Given the description of an element on the screen output the (x, y) to click on. 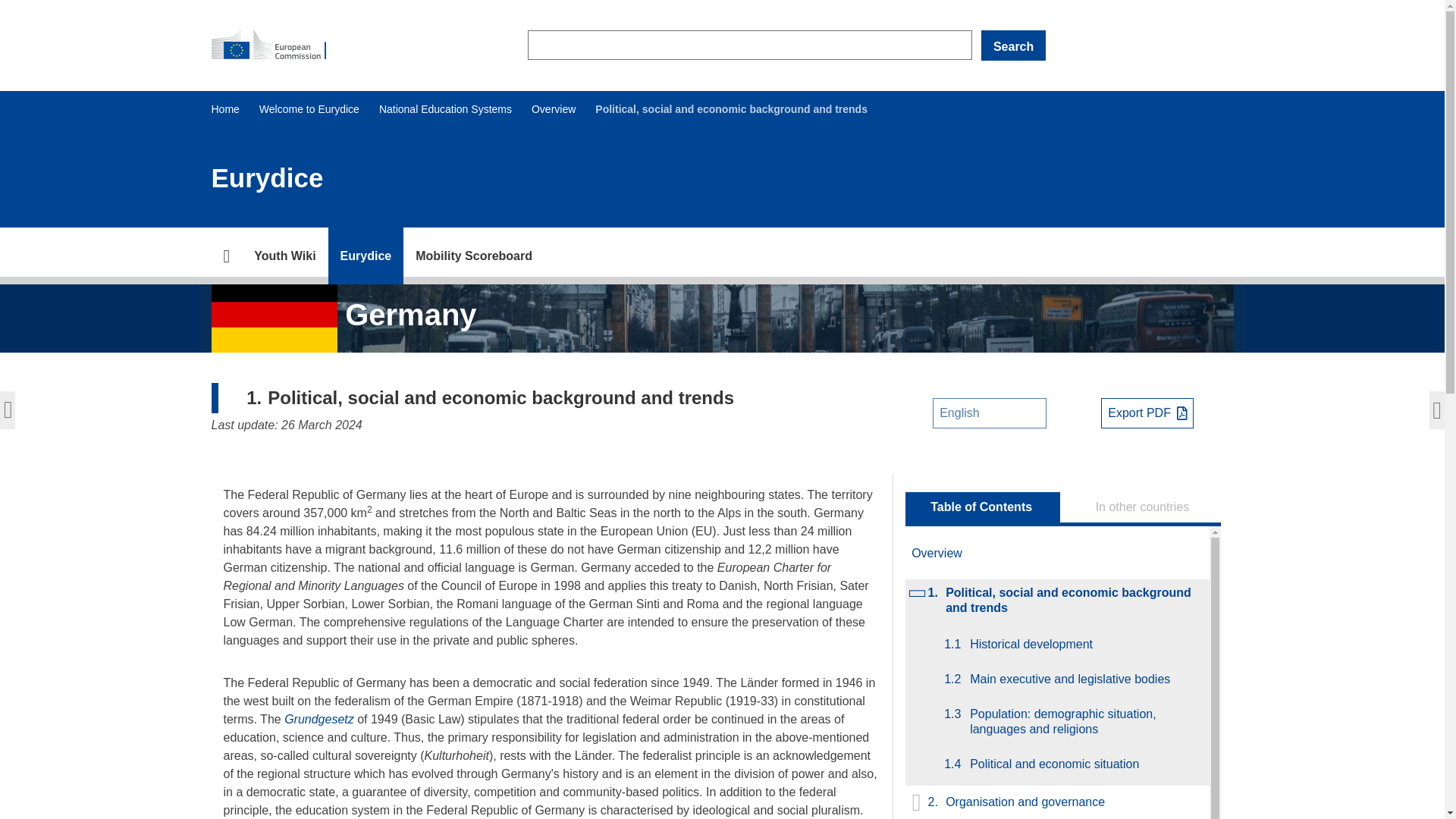
Eurydice (366, 255)
Skip to main content (5, 6)
National Education Systems (445, 109)
Welcome to Eurydice (309, 109)
Youth Wiki (284, 255)
Contact (366, 255)
Mobility Scoreboard (473, 255)
European Commission (275, 45)
Overview (553, 109)
Search (1013, 45)
Home (224, 109)
National Policies Platform (284, 255)
